Given the description of an element on the screen output the (x, y) to click on. 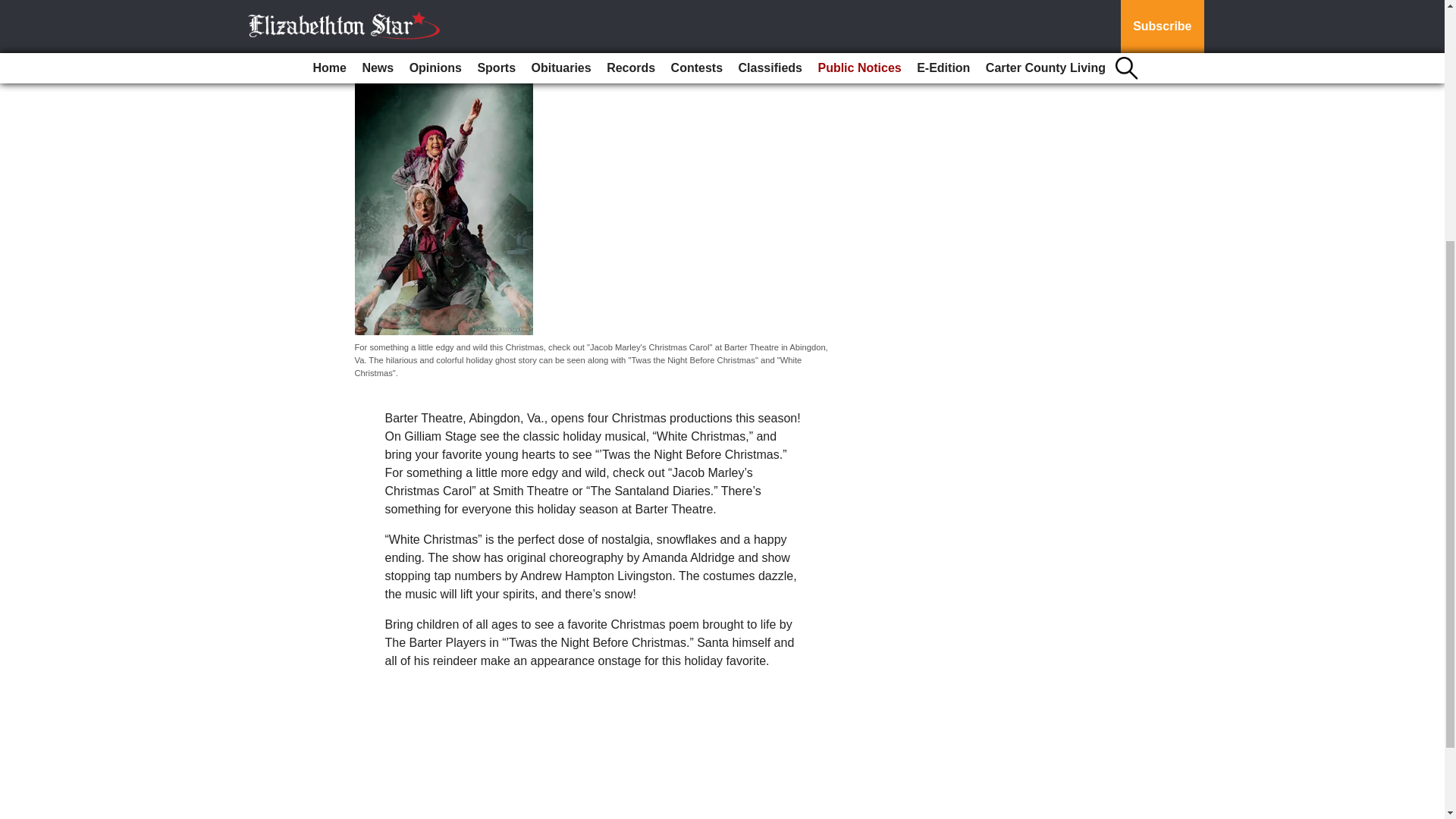
Contributed Content (408, 49)
